Given the description of an element on the screen output the (x, y) to click on. 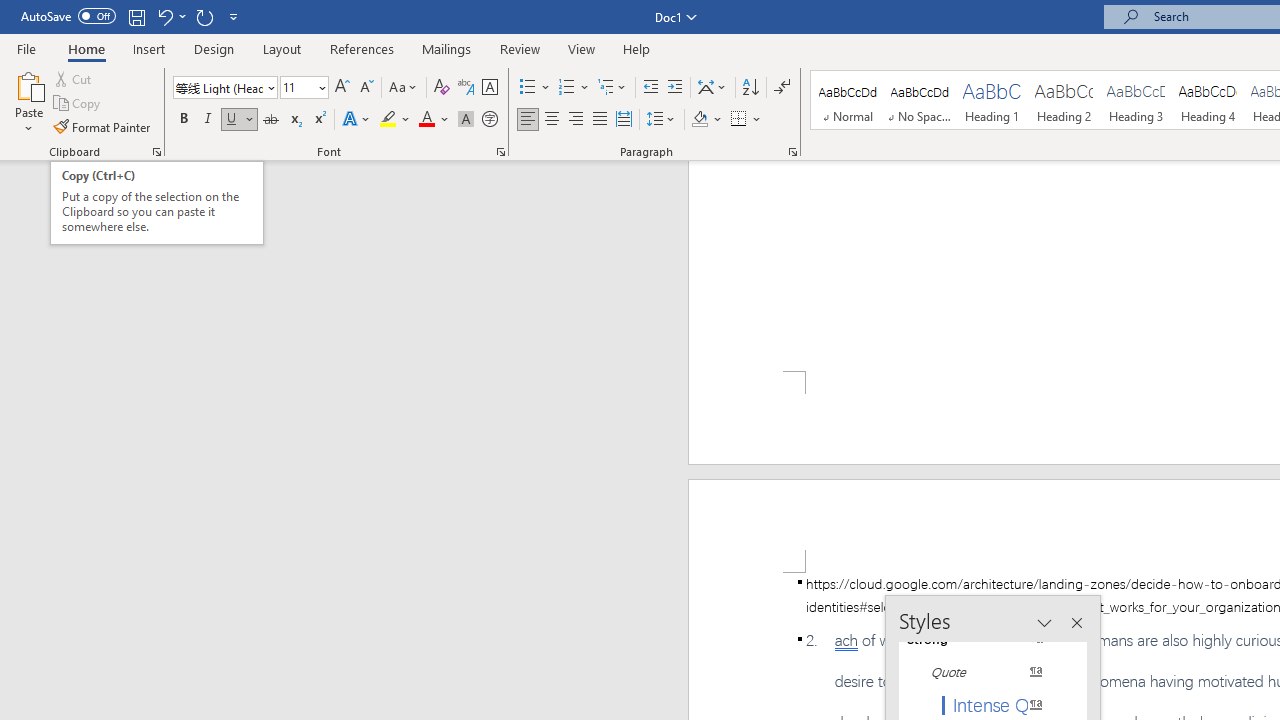
Repeat Style (204, 15)
